Given the description of an element on the screen output the (x, y) to click on. 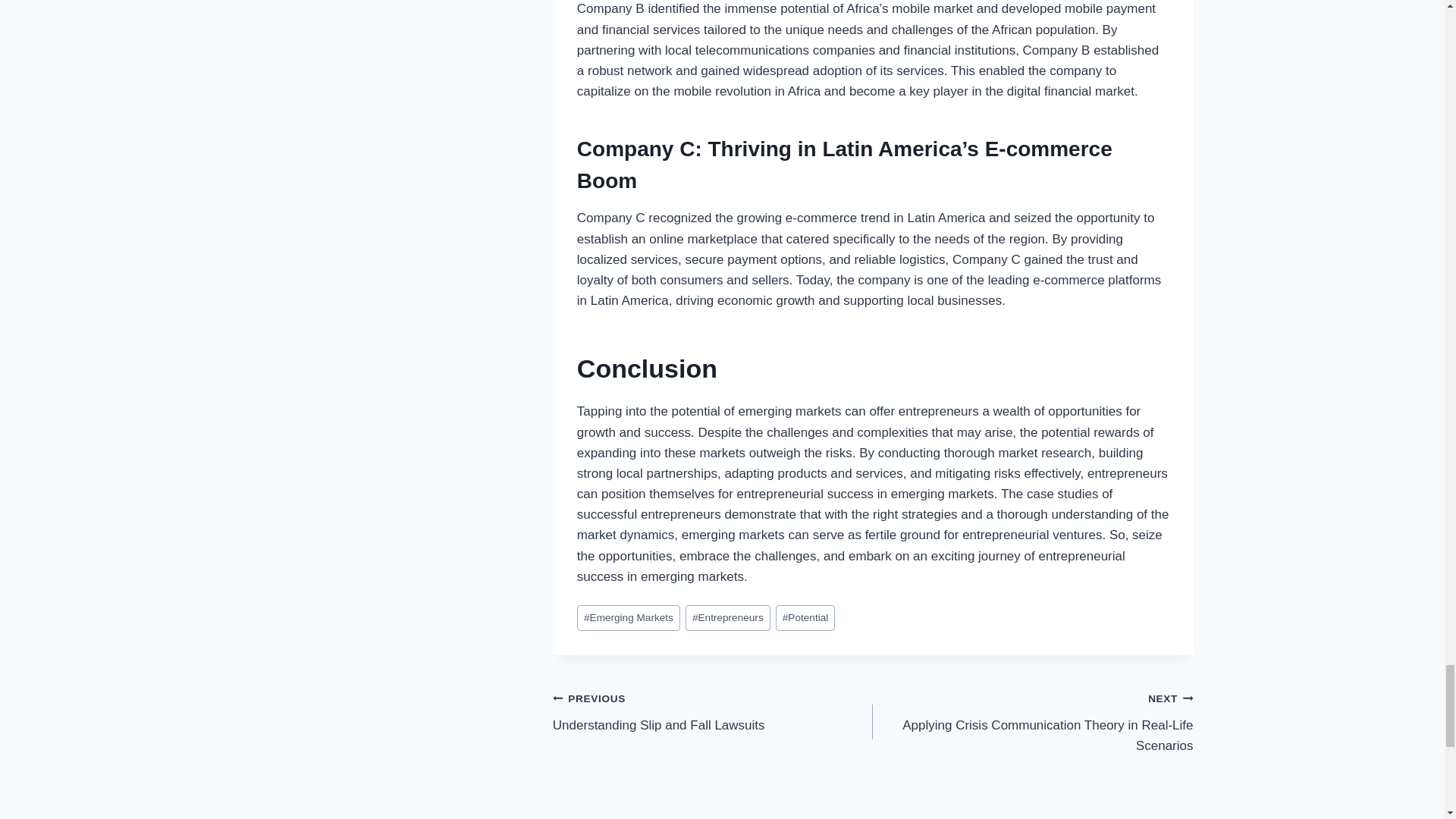
Potential (805, 618)
Entrepreneurs (727, 618)
Emerging Markets (627, 618)
